Given the description of an element on the screen output the (x, y) to click on. 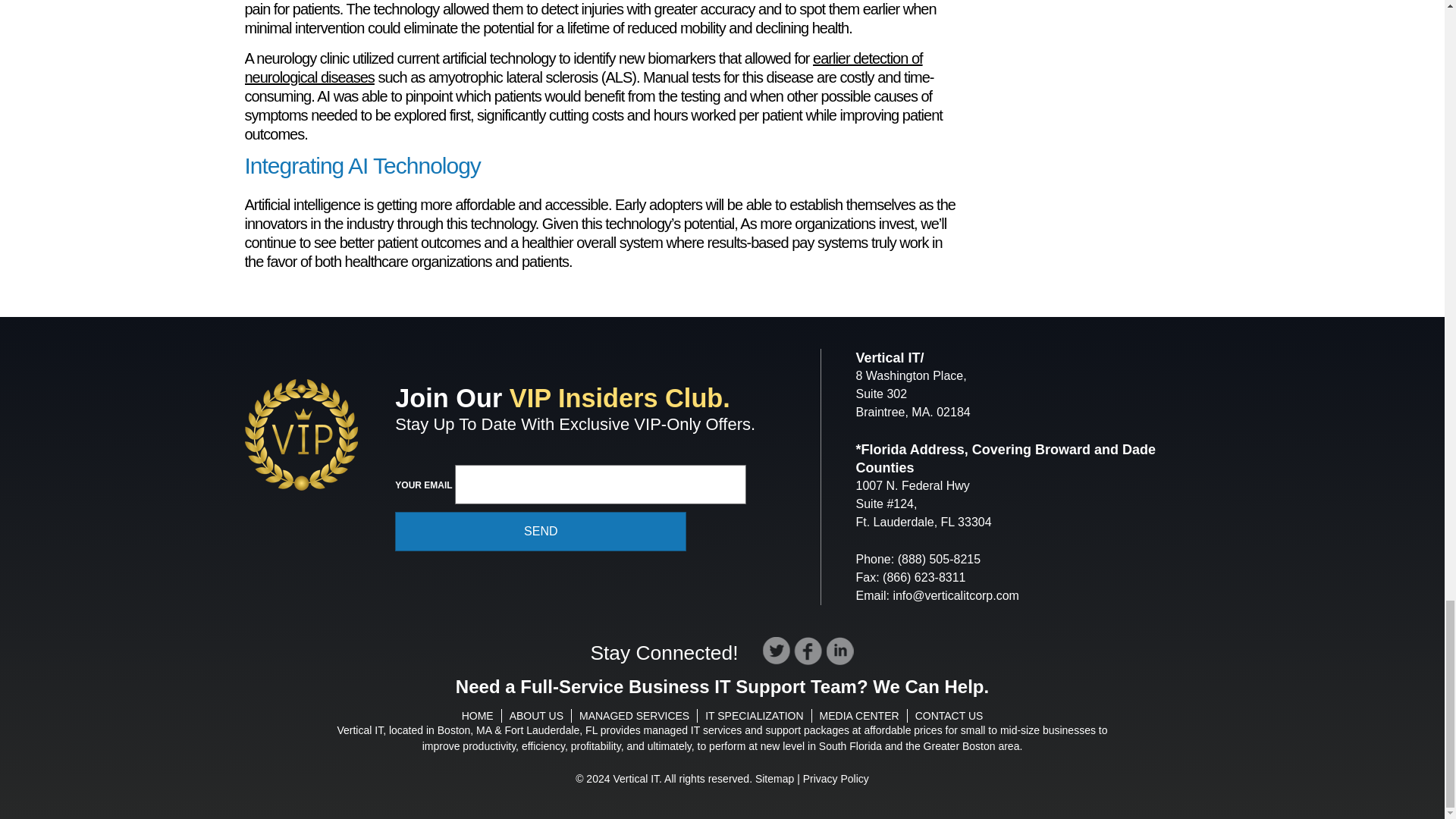
Send (539, 531)
Send (539, 531)
earlier detection of neurological diseases (582, 67)
